Given the description of an element on the screen output the (x, y) to click on. 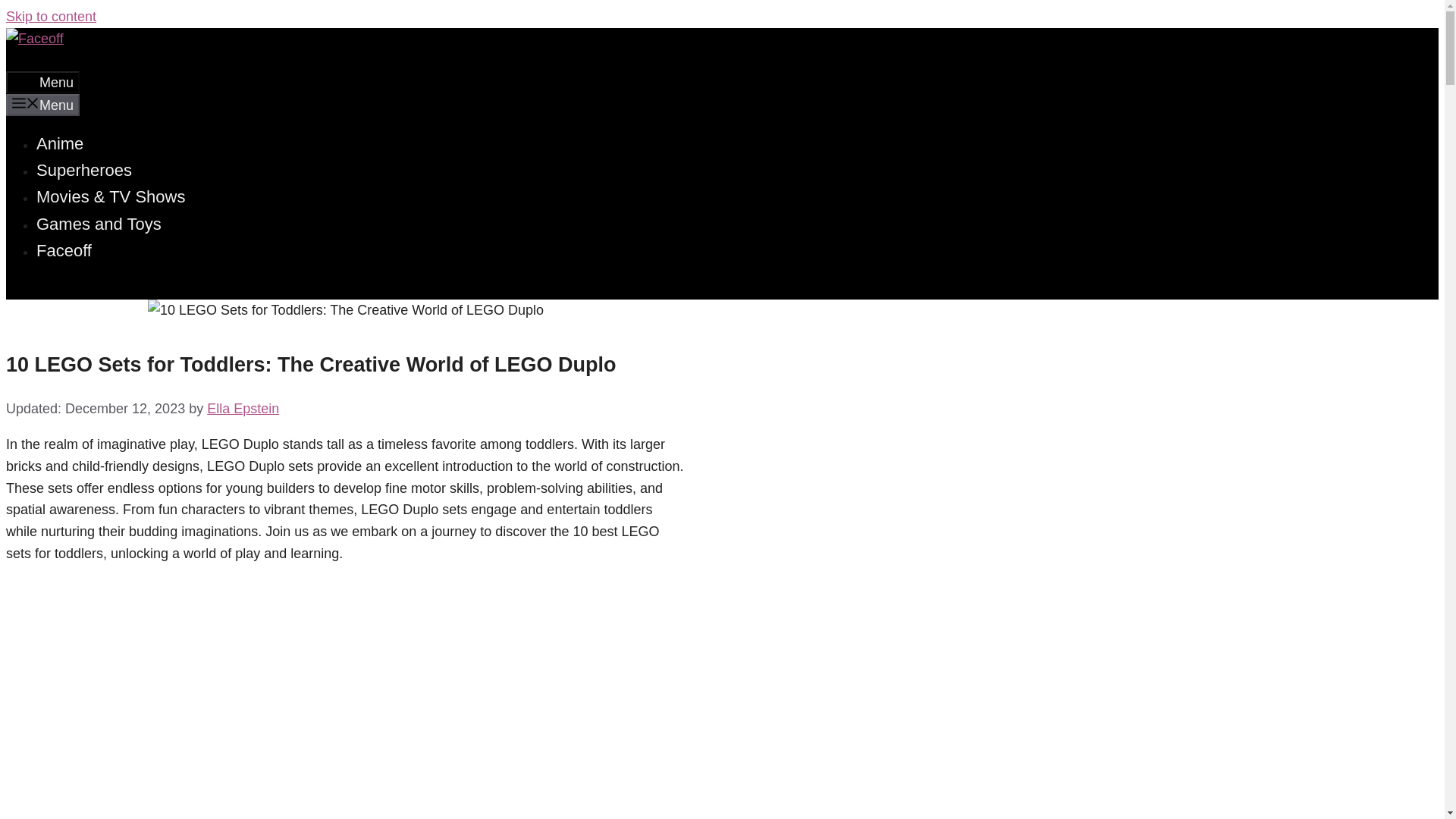
Faceoff (63, 250)
Superheroes (84, 169)
Ella Epstein (242, 408)
Skip to content (50, 16)
Anime (59, 143)
View all posts by Ella Epstein (242, 408)
Skip to content (50, 16)
Games and Toys (98, 223)
Menu (42, 82)
Menu (42, 105)
